Given the description of an element on the screen output the (x, y) to click on. 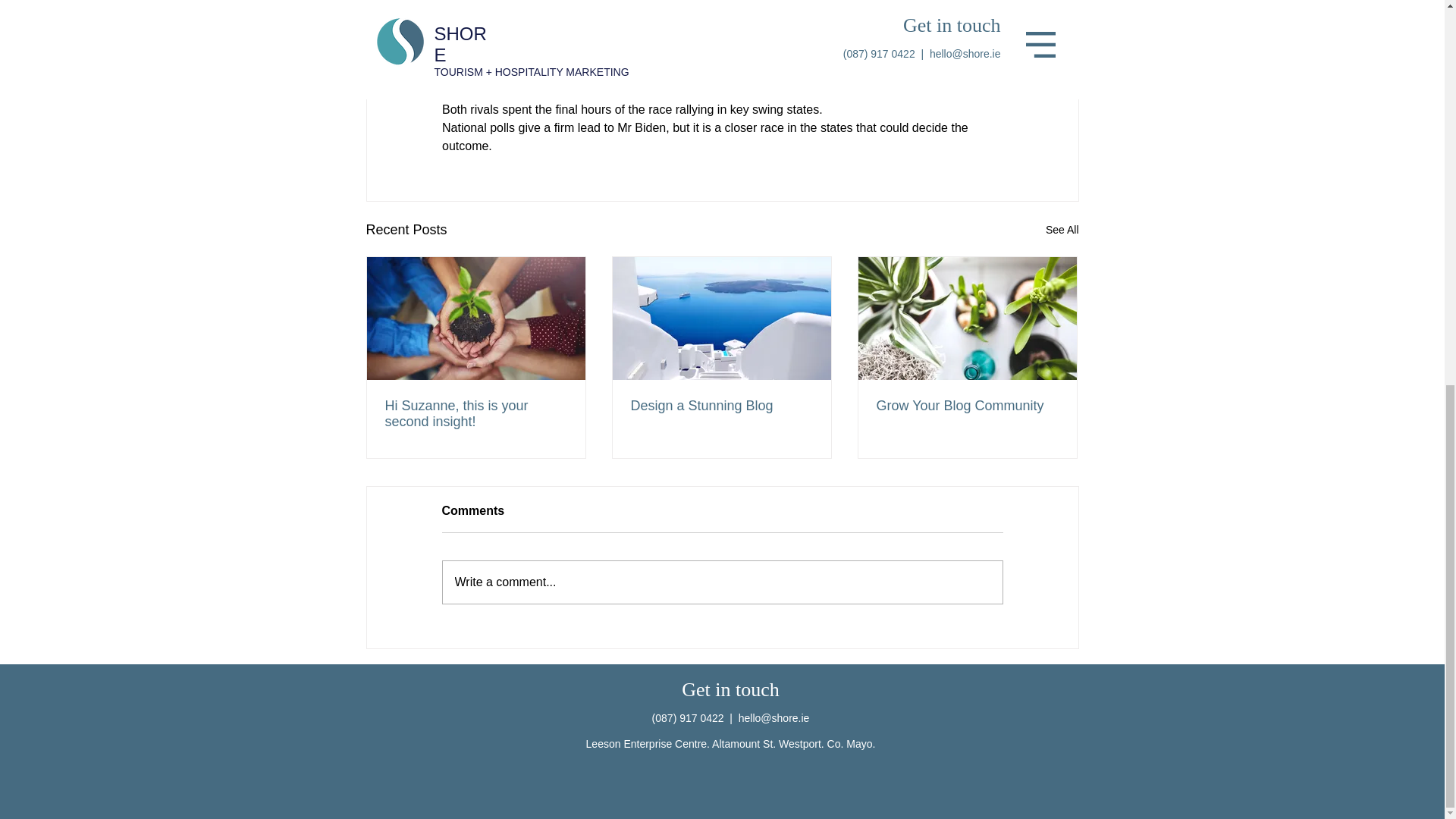
Design a Stunning Blog (721, 406)
Write a comment... (722, 582)
See All (1061, 229)
Grow Your Blog Community (967, 406)
Hi Suzanne, this is your second insight! (476, 413)
